Given the description of an element on the screen output the (x, y) to click on. 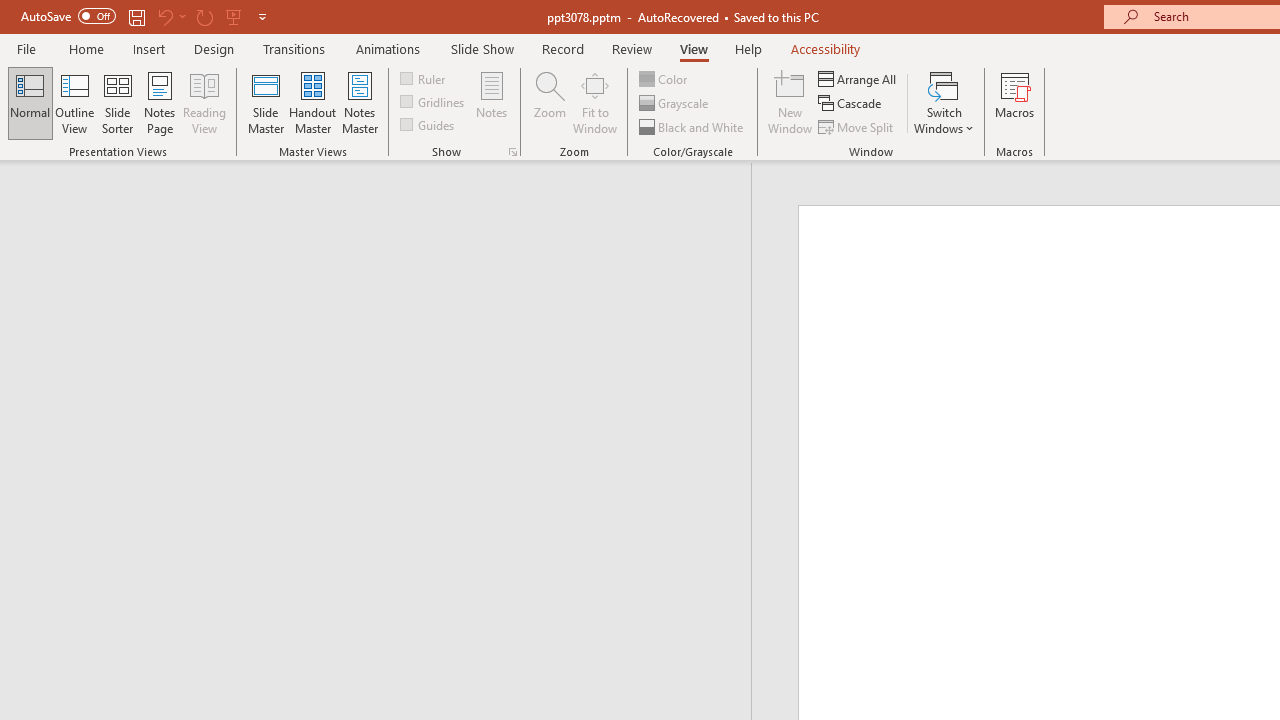
Black and White (693, 126)
Switch Windows (943, 102)
